Given the description of an element on the screen output the (x, y) to click on. 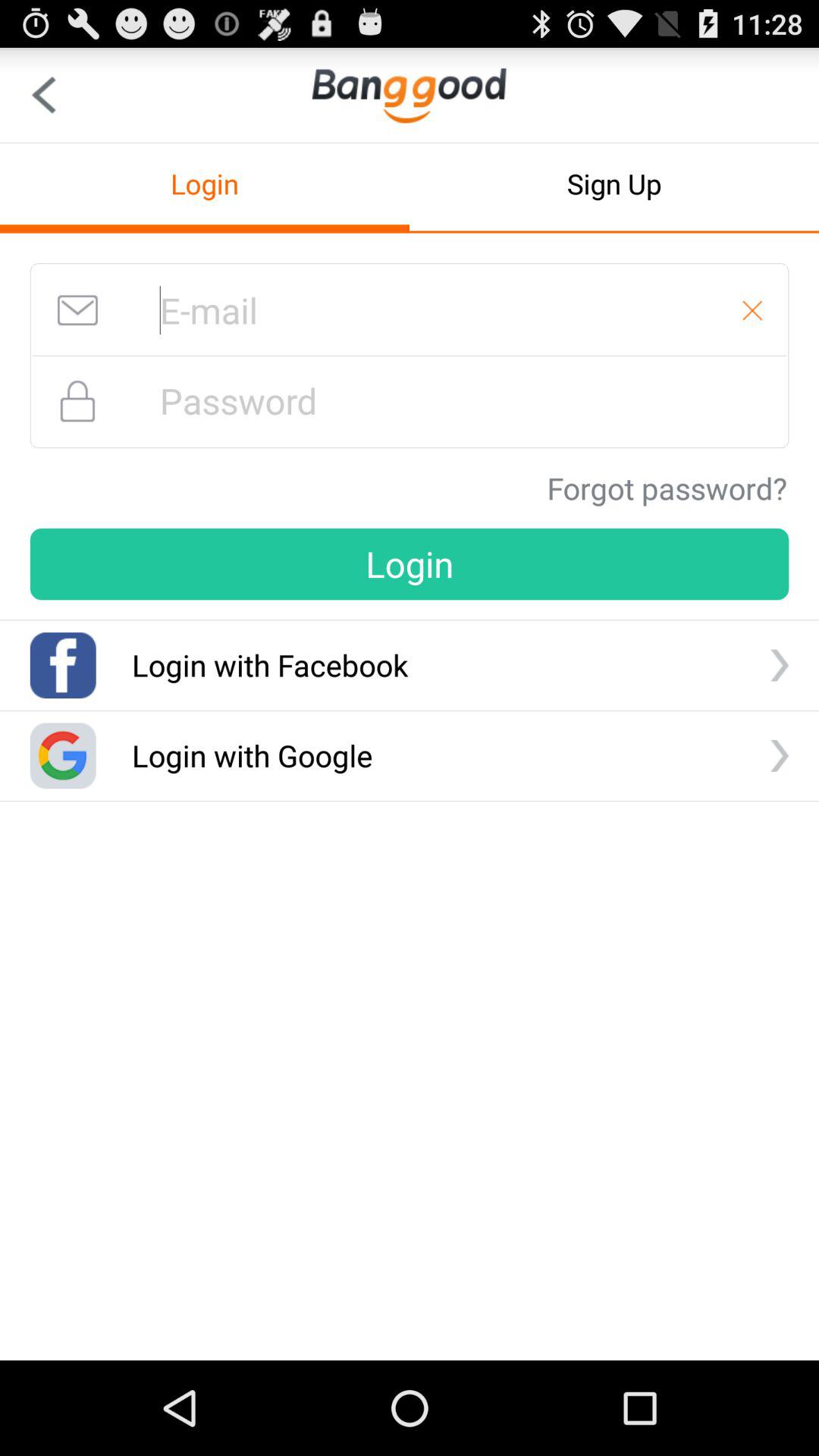
launch the forgot password? (667, 488)
